Given the description of an element on the screen output the (x, y) to click on. 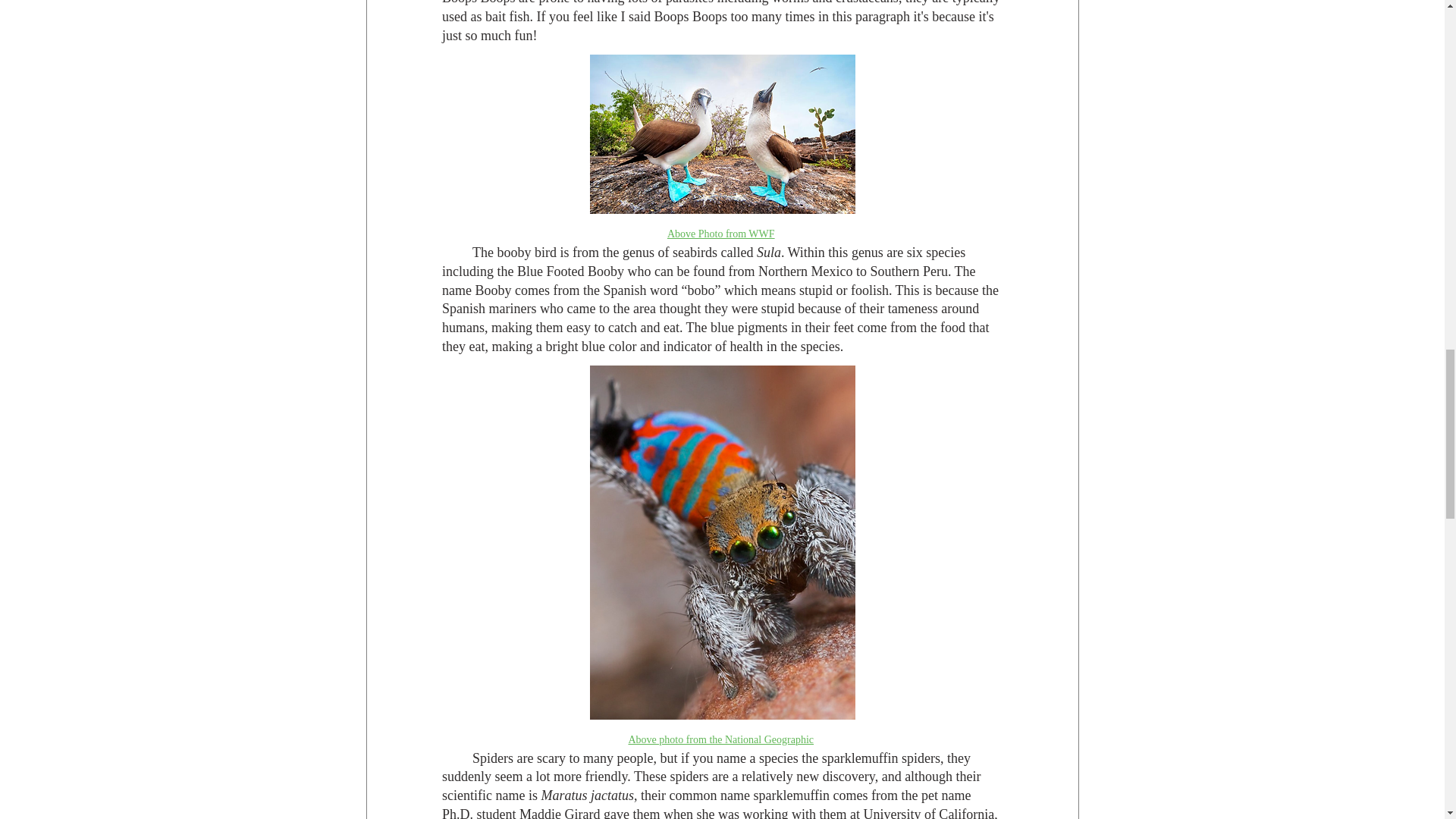
Above Photo from WWF (720, 232)
Above photo from the National Geographic (720, 738)
